Given the description of an element on the screen output the (x, y) to click on. 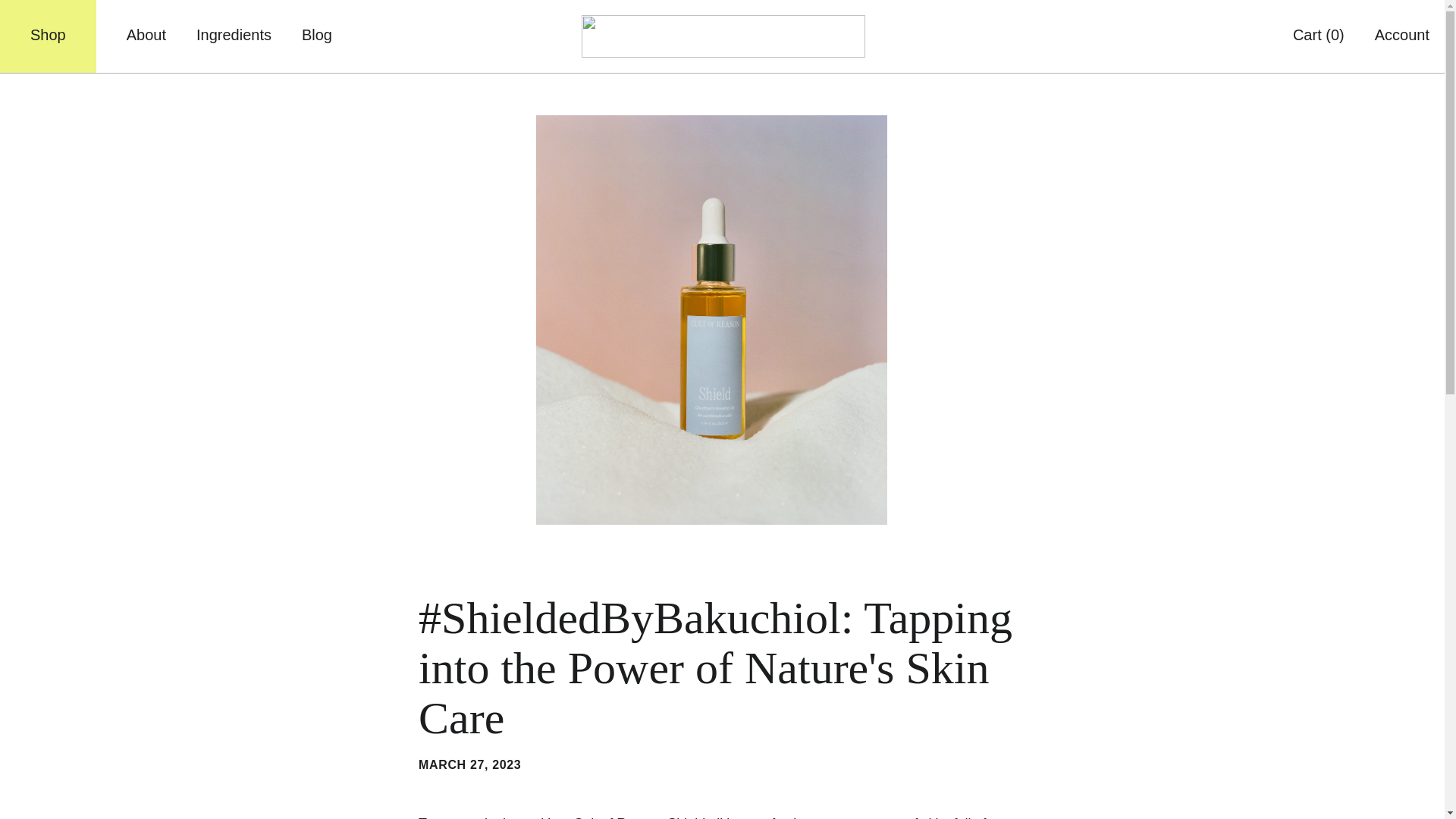
Ingredients (233, 33)
About (145, 33)
Blog (316, 33)
Shop (48, 36)
Account (1401, 33)
